Given the description of an element on the screen output the (x, y) to click on. 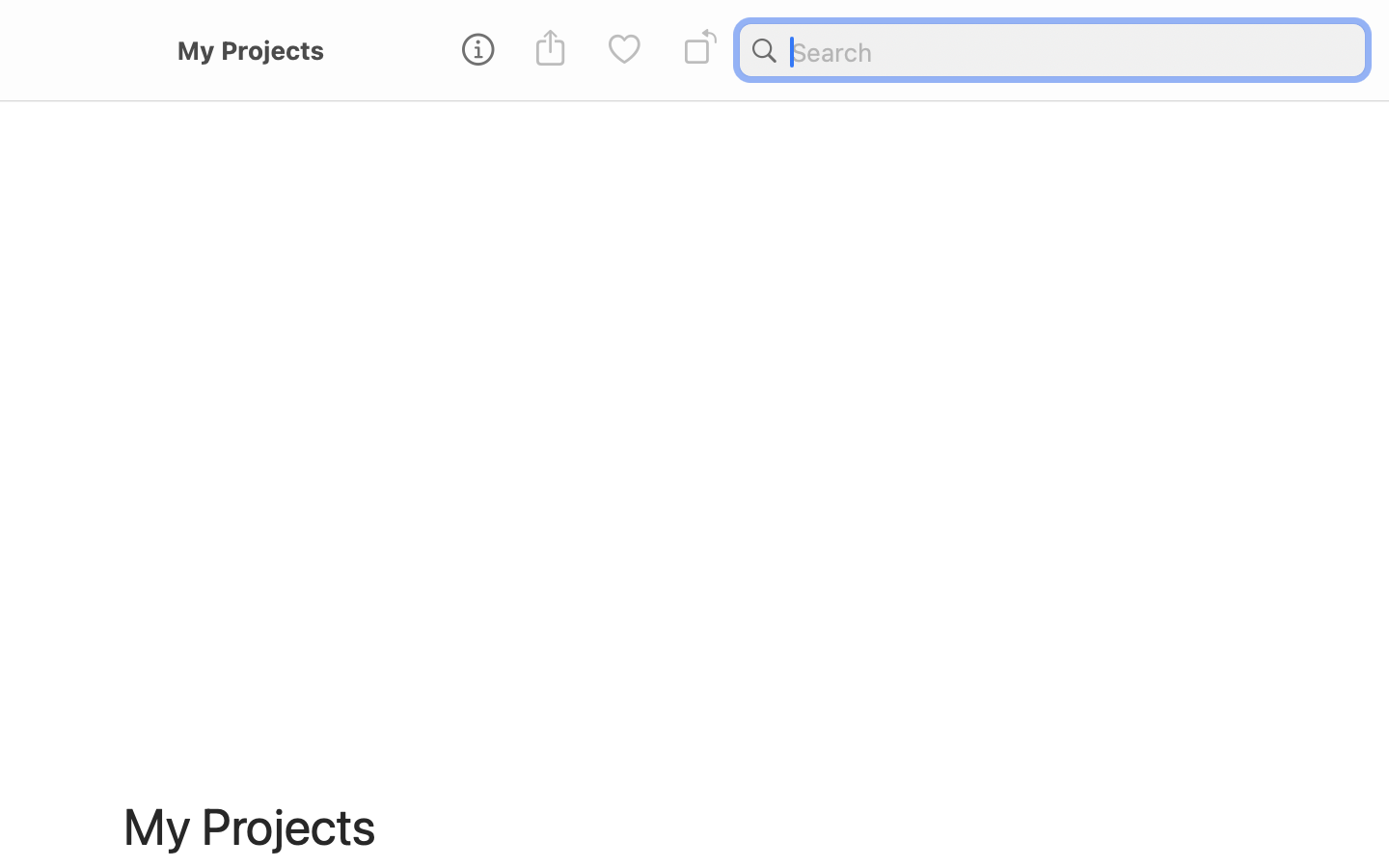
My Projects Element type: AXStaticText (249, 49)
0 Element type: AXCheckBox (623, 50)
